Given the description of an element on the screen output the (x, y) to click on. 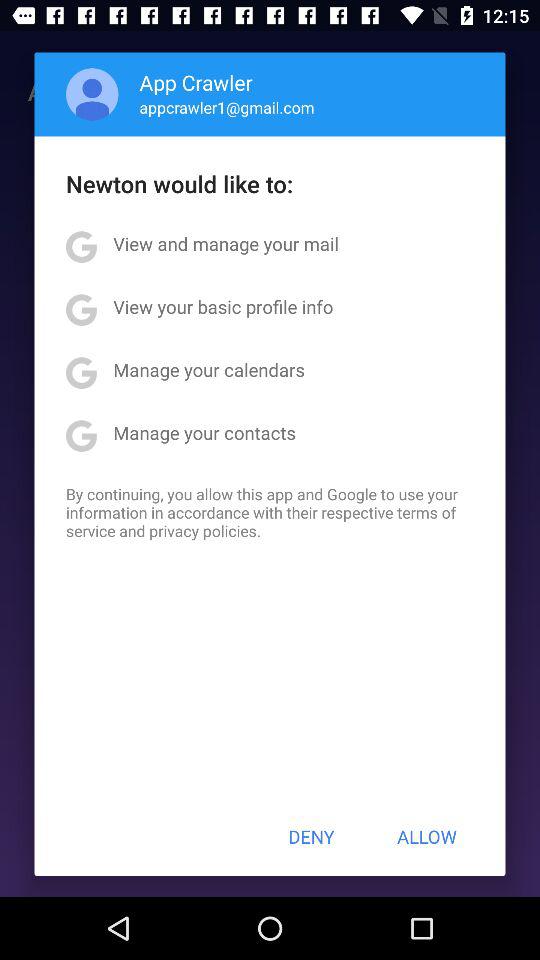
jump until the deny item (311, 836)
